Given the description of an element on the screen output the (x, y) to click on. 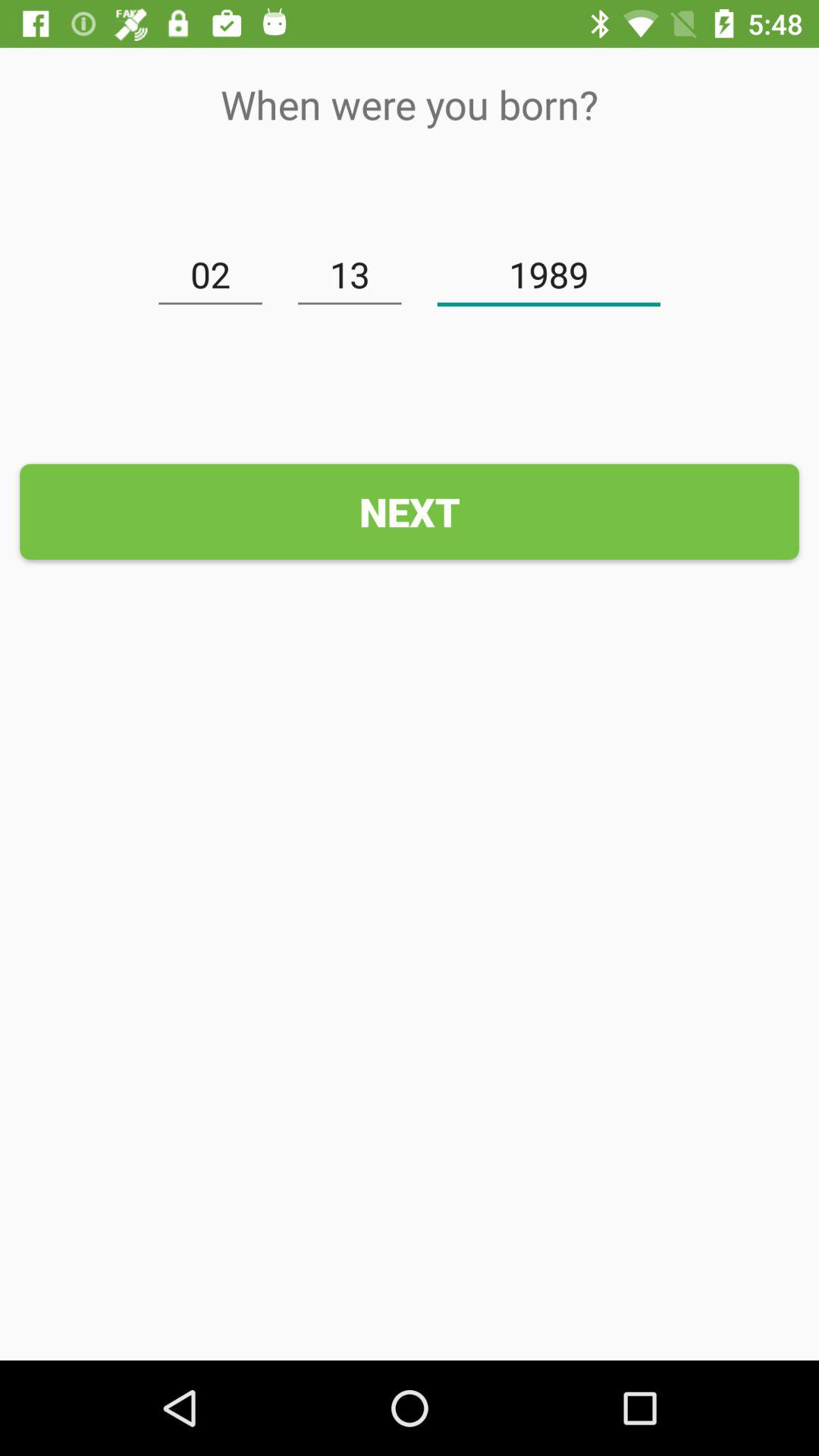
choose icon below the when were you icon (210, 275)
